Given the description of an element on the screen output the (x, y) to click on. 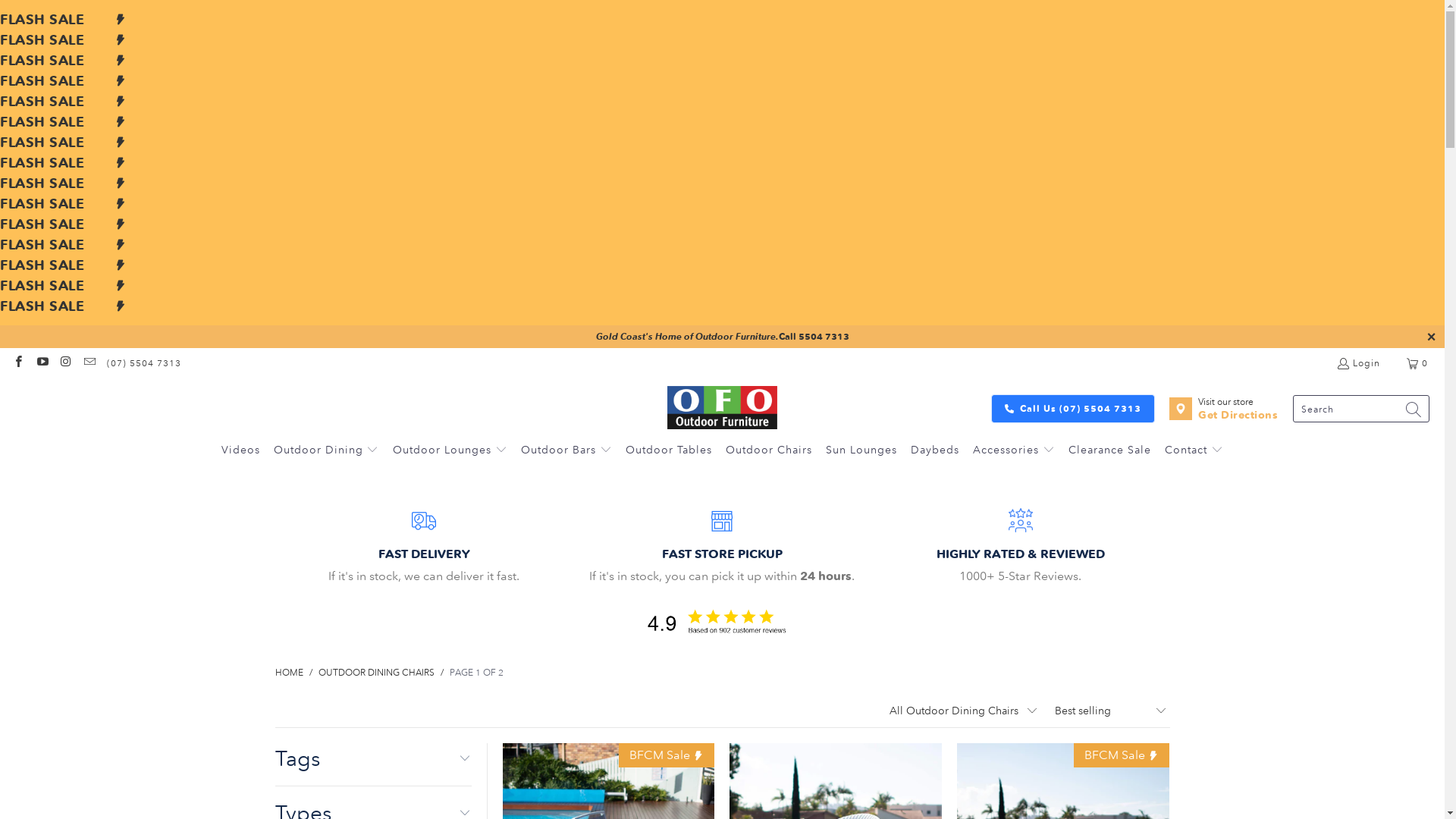
HOME Element type: text (288, 671)
FAST DELIVERY
If it's in stock, we can deliver it fast. Element type: text (423, 547)
OFO Outdoor Furniture Element type: hover (722, 408)
OFO Outdoor Furniture on Facebook Element type: hover (17, 362)
Videos Element type: text (240, 450)
Outdoor Chairs Element type: text (768, 450)
Outdoor Tables Element type: text (668, 450)
0 Element type: text (1417, 363)
Visit our store
Get Directions Element type: text (1223, 408)
HIGHLY RATED & REVIEWED
1000+ 5-Star Reviews. Element type: text (1019, 547)
5504 7313 Element type: text (822, 335)
OUTDOOR DINING CHAIRS Element type: text (376, 671)
OFO Outdoor Furniture on YouTube Element type: hover (40, 362)
Sun Lounges Element type: text (861, 450)
Daybeds Element type: text (934, 450)
OFO Outdoor Furniture on Instagram Element type: hover (65, 362)
(07) 5504 7313 Element type: text (143, 363)
Email OFO Outdoor Furniture Element type: hover (88, 362)
Clearance Sale Element type: text (1109, 450)
Call Us (07) 5504 7313 Element type: text (1072, 408)
Login Element type: text (1358, 363)
